Given the description of an element on the screen output the (x, y) to click on. 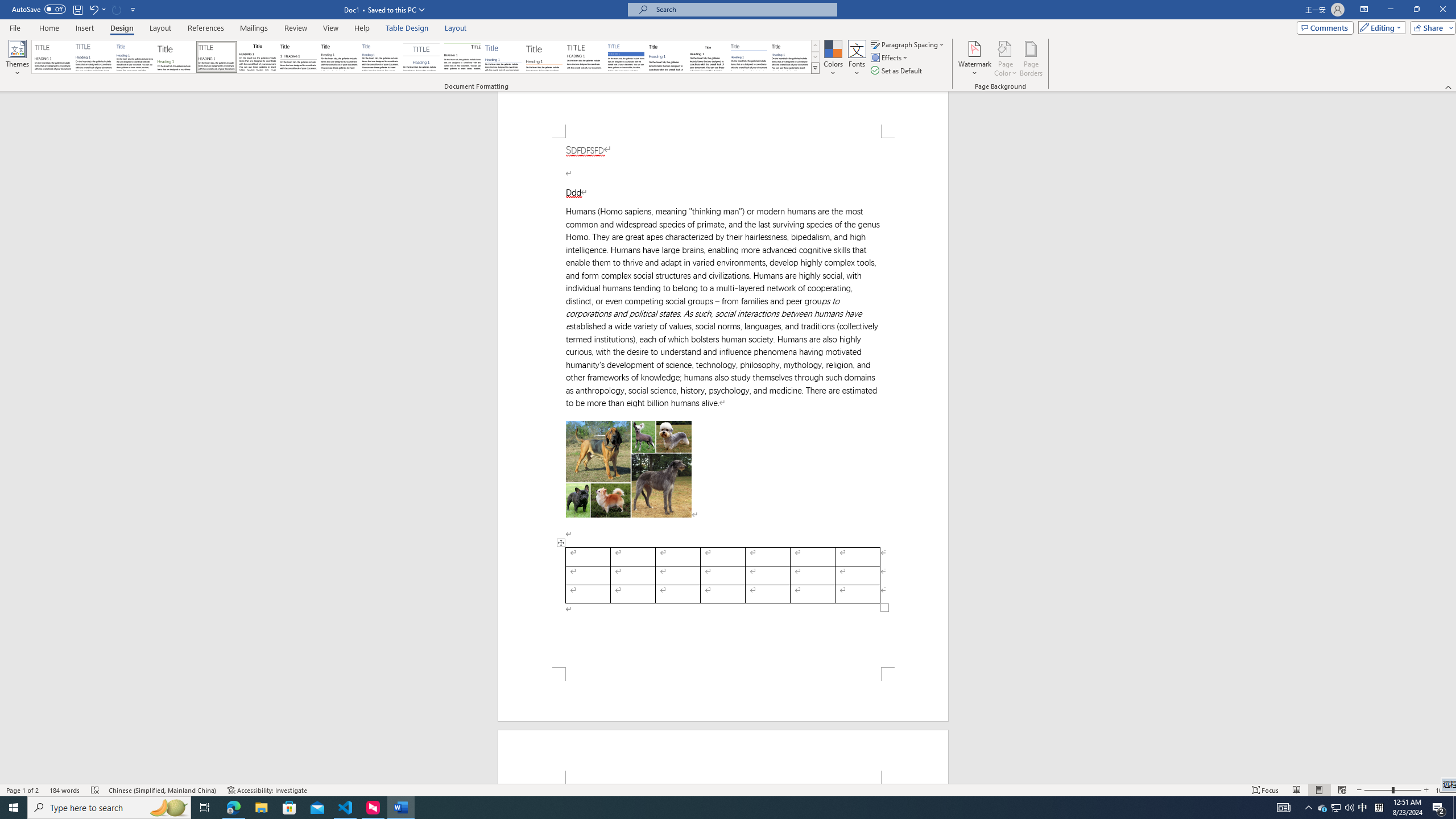
Black & White (Word 2013) (338, 56)
Paragraph Spacing (908, 44)
Minimalist (584, 56)
Class: MsoCommandBar (728, 45)
Layout (455, 28)
Word Count 184 words (64, 790)
Comments (1325, 27)
Page Color (1005, 58)
Class: NetUIImage (815, 68)
Read Mode (1296, 790)
References (205, 28)
Language Chinese (Simplified, Mainland China) (162, 790)
Zoom 100% (1443, 790)
Spelling and Grammar Check Errors (94, 790)
Themes (17, 58)
